Given the description of an element on the screen output the (x, y) to click on. 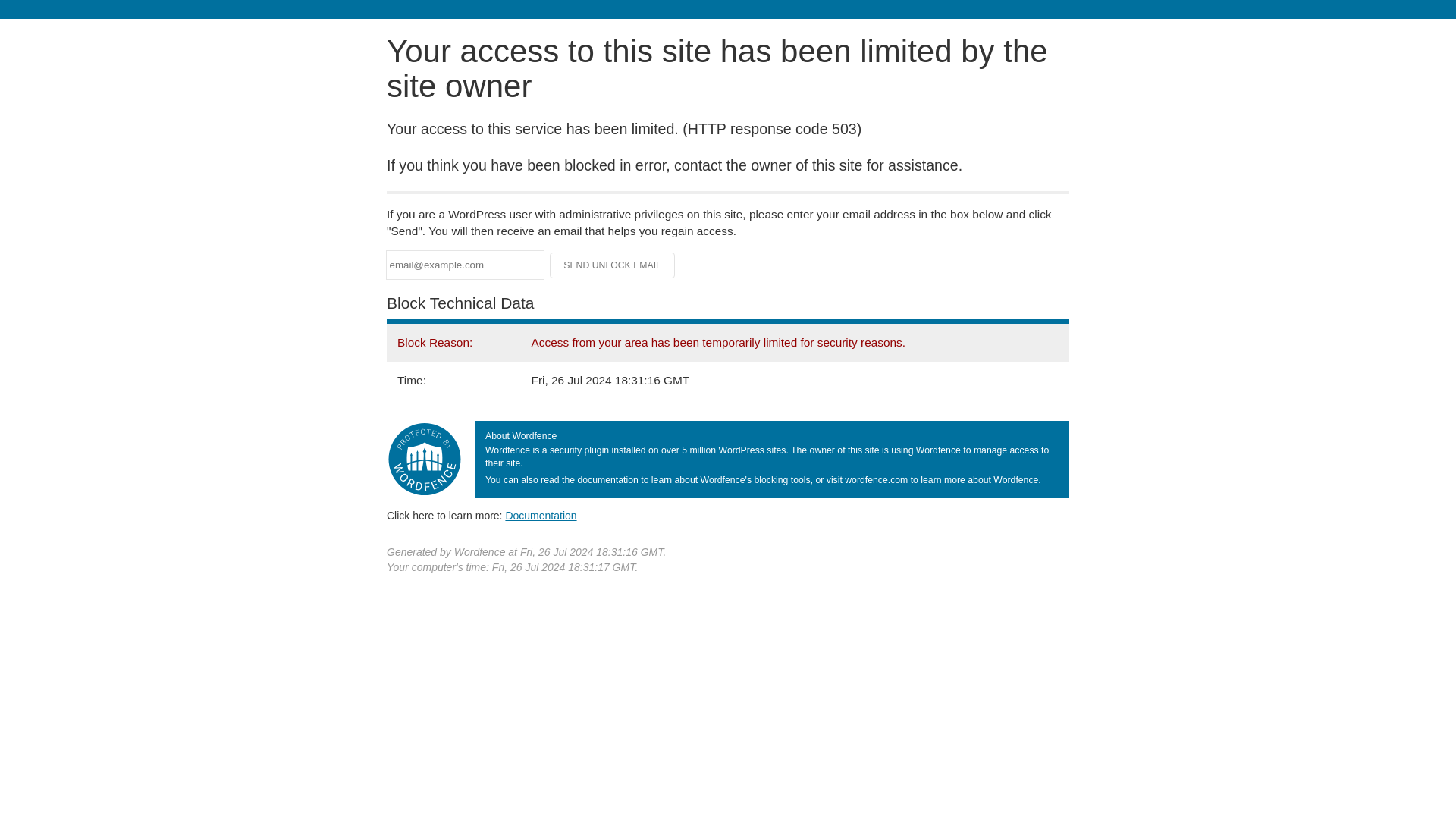
Documentation (540, 515)
Send Unlock Email (612, 265)
Send Unlock Email (612, 265)
